Given the description of an element on the screen output the (x, y) to click on. 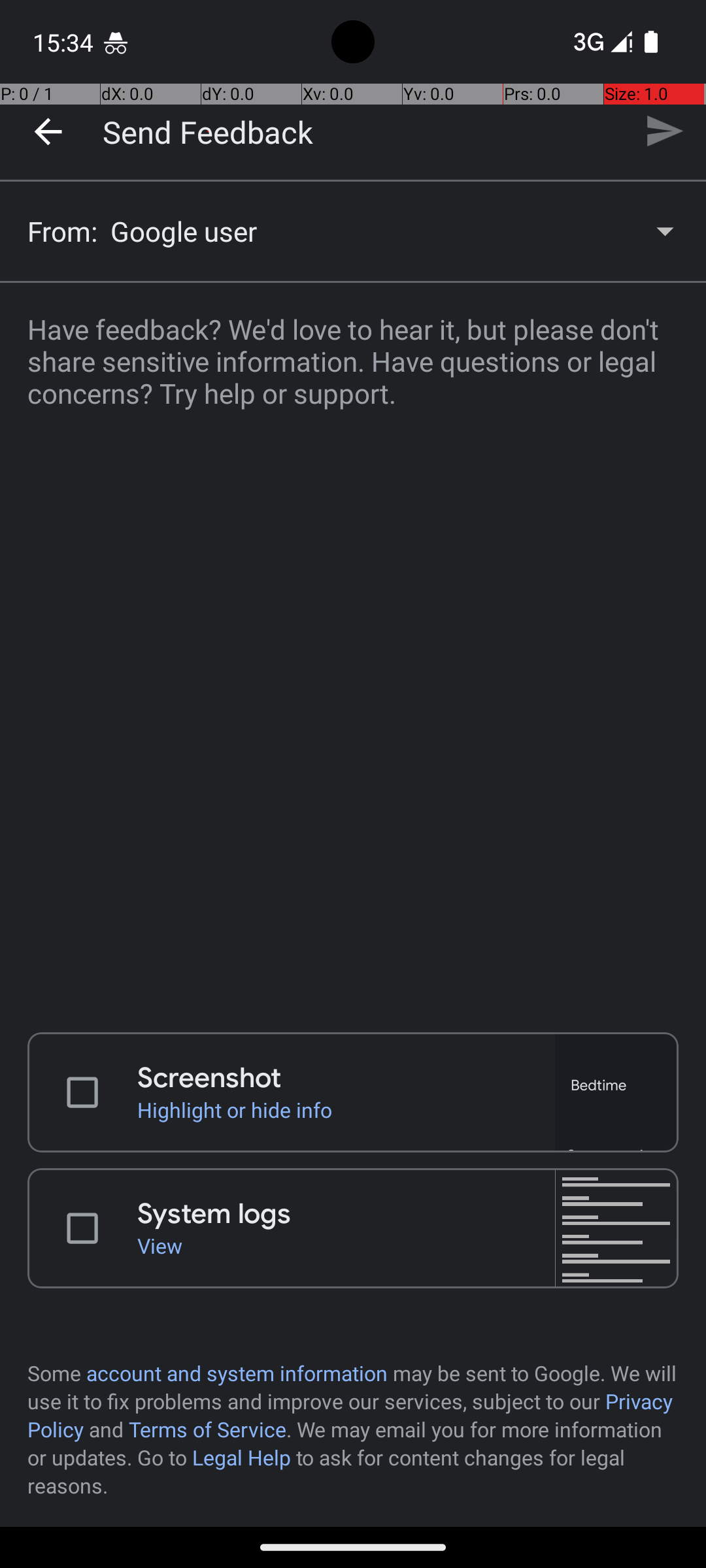
Send Feedback Element type: android.widget.TextView (207, 131)
Send Element type: android.widget.Button (664, 131)
Have feedback? We'd love to hear it, but please don't share sensitive information. Have questions or legal concerns? Try help or support. Element type: android.widget.EditText (353, 649)
Some account and system information may be sent to Google. We will use it to fix problems and improve our services, subject to our Privacy Policy and Terms of Service. We may email you for more information or updates. Go to Legal Help to ask for content changes for legal reasons. Element type: android.widget.TextView (352, 1428)
From:  Google user Element type: android.widget.TextView (352, 230)
Screenshot Element type: android.widget.TextView (345, 1077)
Highlight or hide info Element type: android.widget.TextView (345, 1109)
System logs Element type: android.widget.TextView (345, 1213)
View Element type: android.widget.TextView (345, 1245)
